Given the description of an element on the screen output the (x, y) to click on. 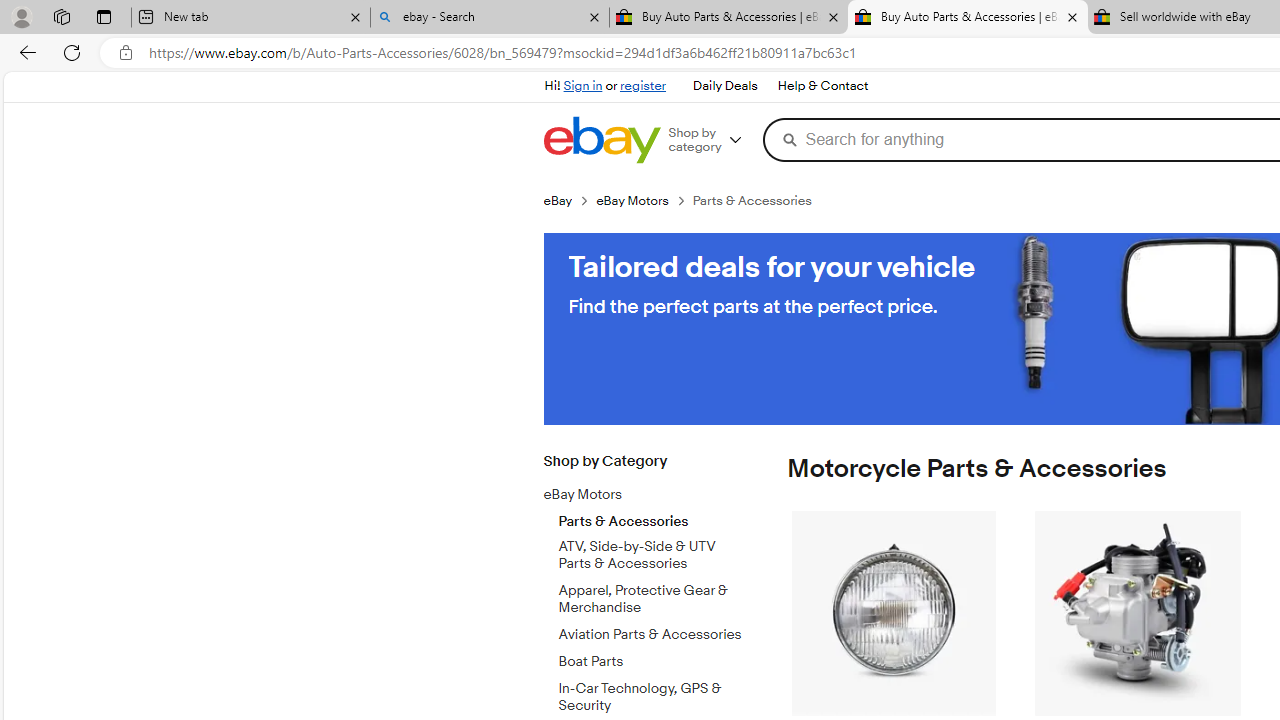
register (642, 85)
eBay (557, 200)
ATV, Side-by-Side & UTV Parts & Accessories (653, 551)
Aviation Parts & Accessories (653, 631)
Apparel, Protective Gear & Merchandise (653, 595)
Help & Contact (821, 85)
Sign in (582, 85)
eBay Home (601, 139)
eBay Home (601, 139)
